Given the description of an element on the screen output the (x, y) to click on. 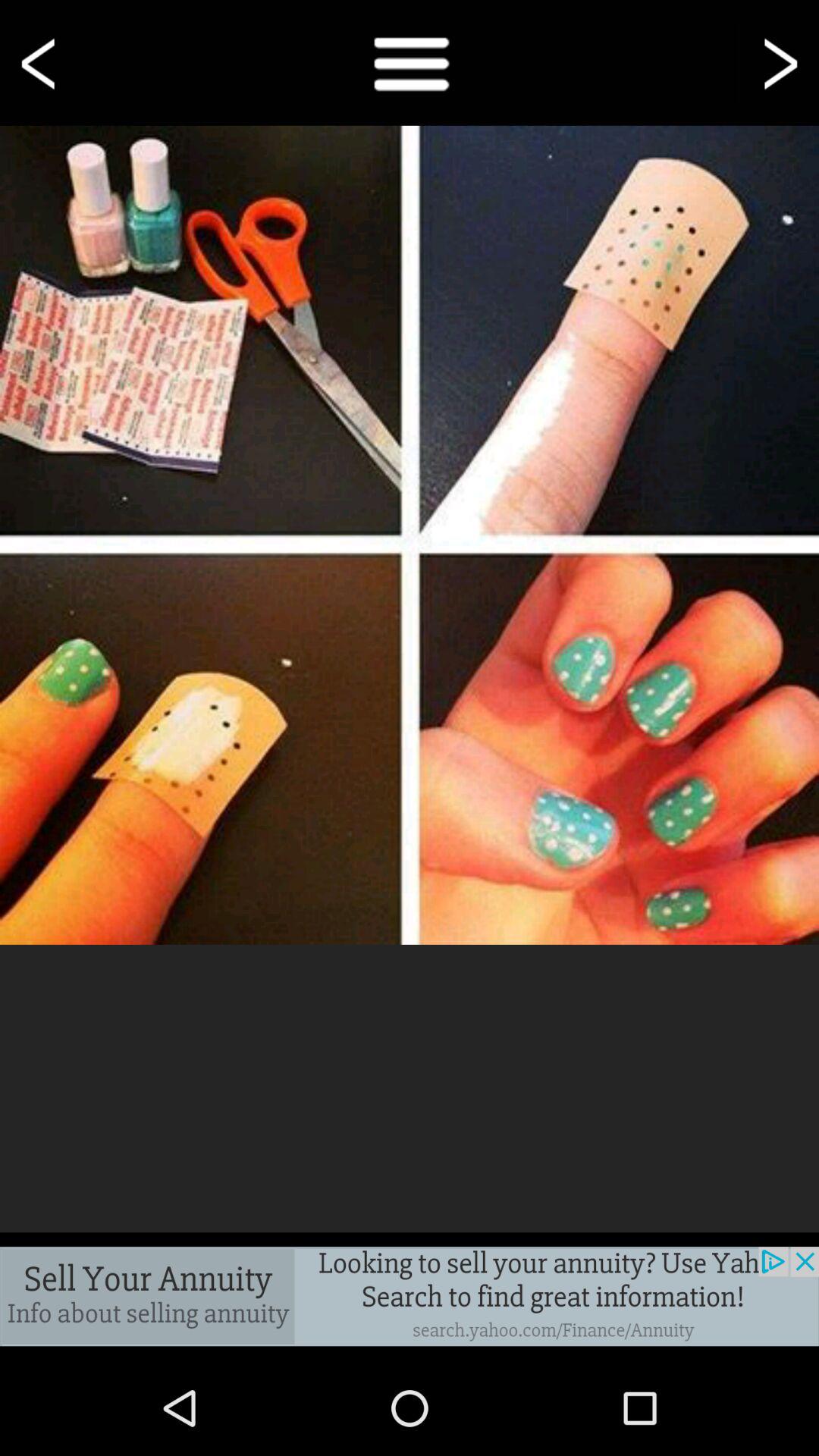
open menu (409, 62)
